Given the description of an element on the screen output the (x, y) to click on. 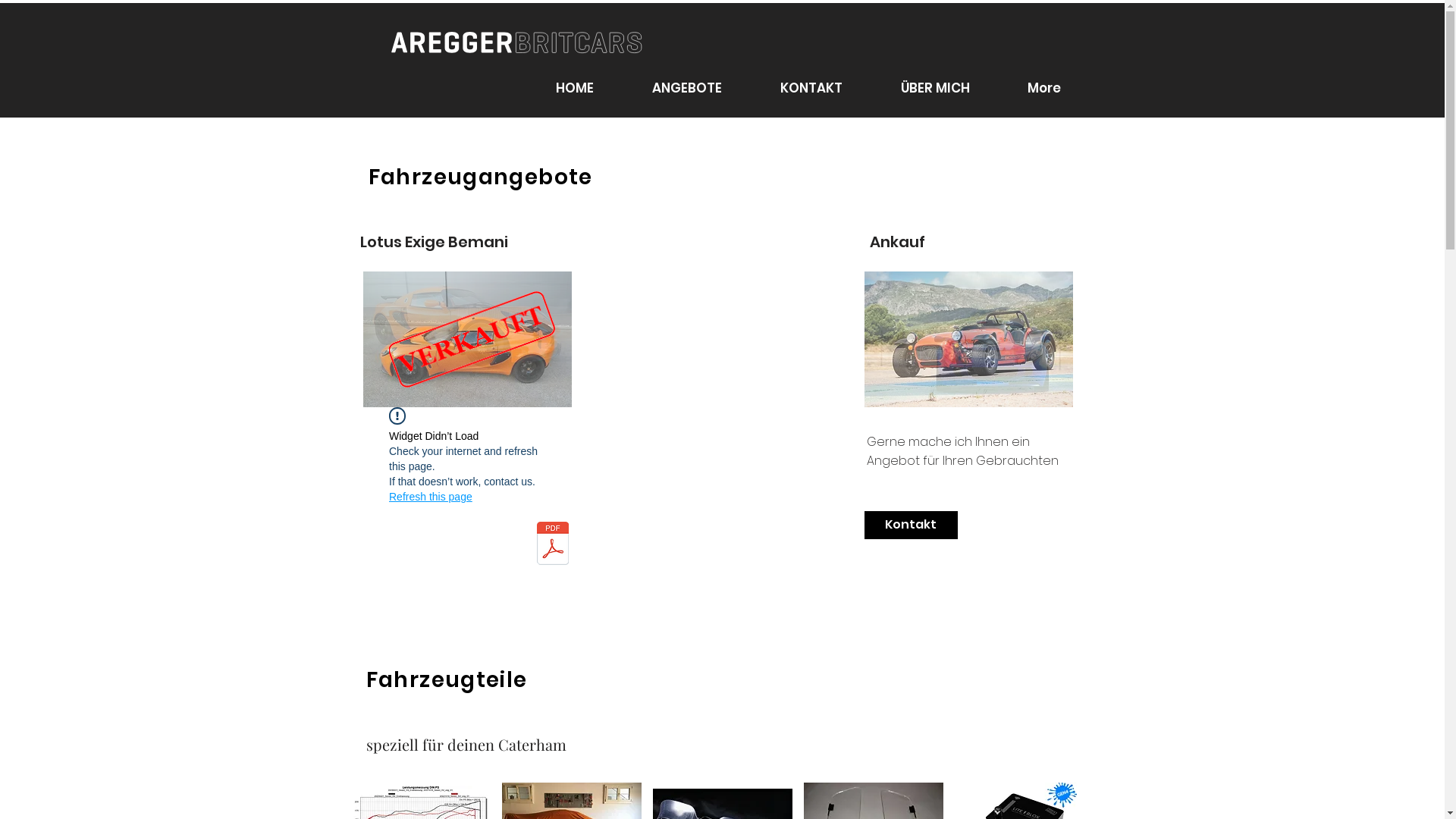
Lotus Exige Bemani.pdf Element type: hover (552, 544)
KONTAKT Element type: text (810, 87)
Kontakt Element type: text (910, 525)
HOME Element type: text (574, 87)
ANGEBOTE Element type: text (687, 87)
Refresh this page Element type: text (430, 496)
